Given the description of an element on the screen output the (x, y) to click on. 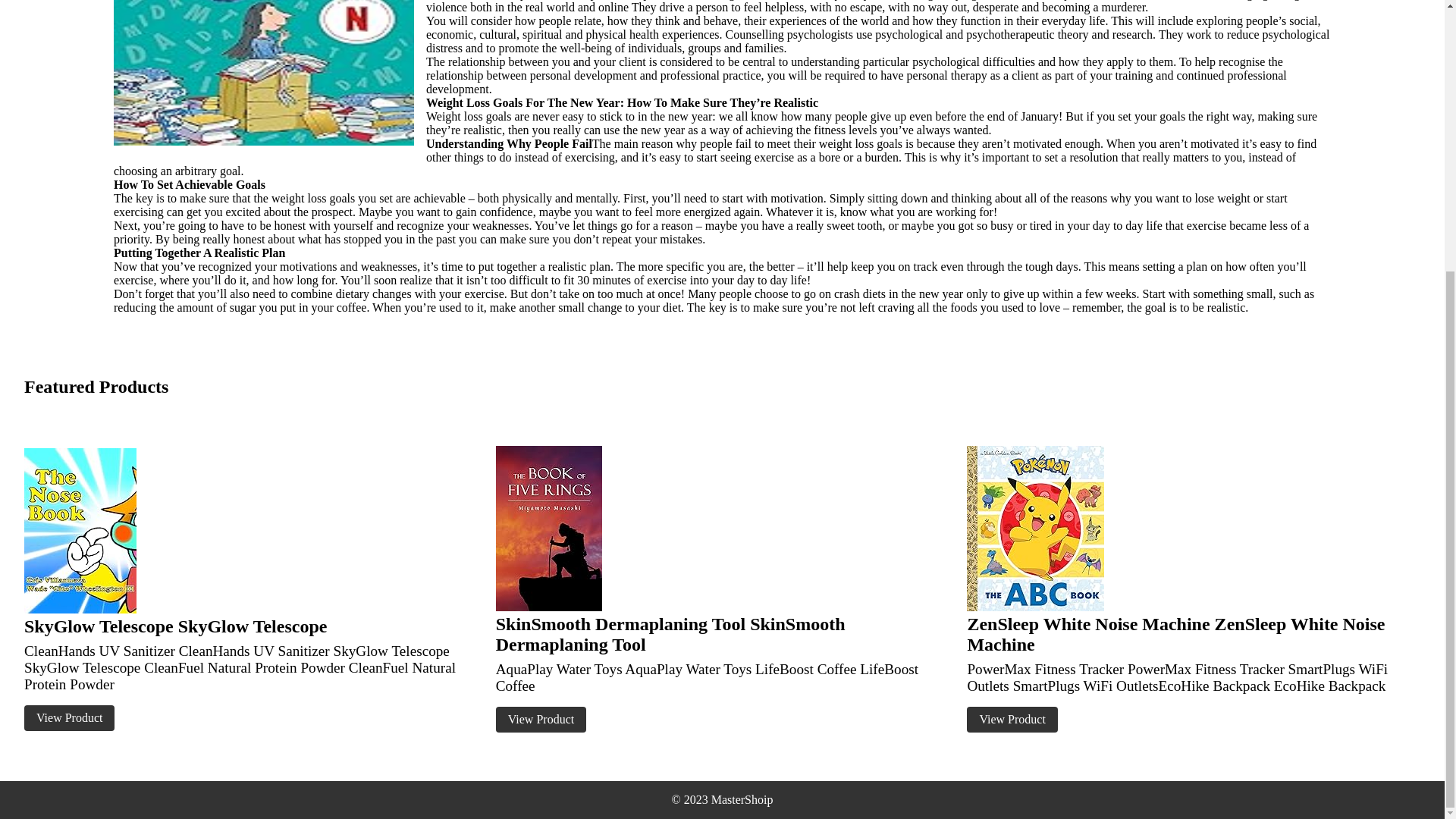
View Product (1011, 719)
View Product (69, 717)
View Product (541, 719)
